Given the description of an element on the screen output the (x, y) to click on. 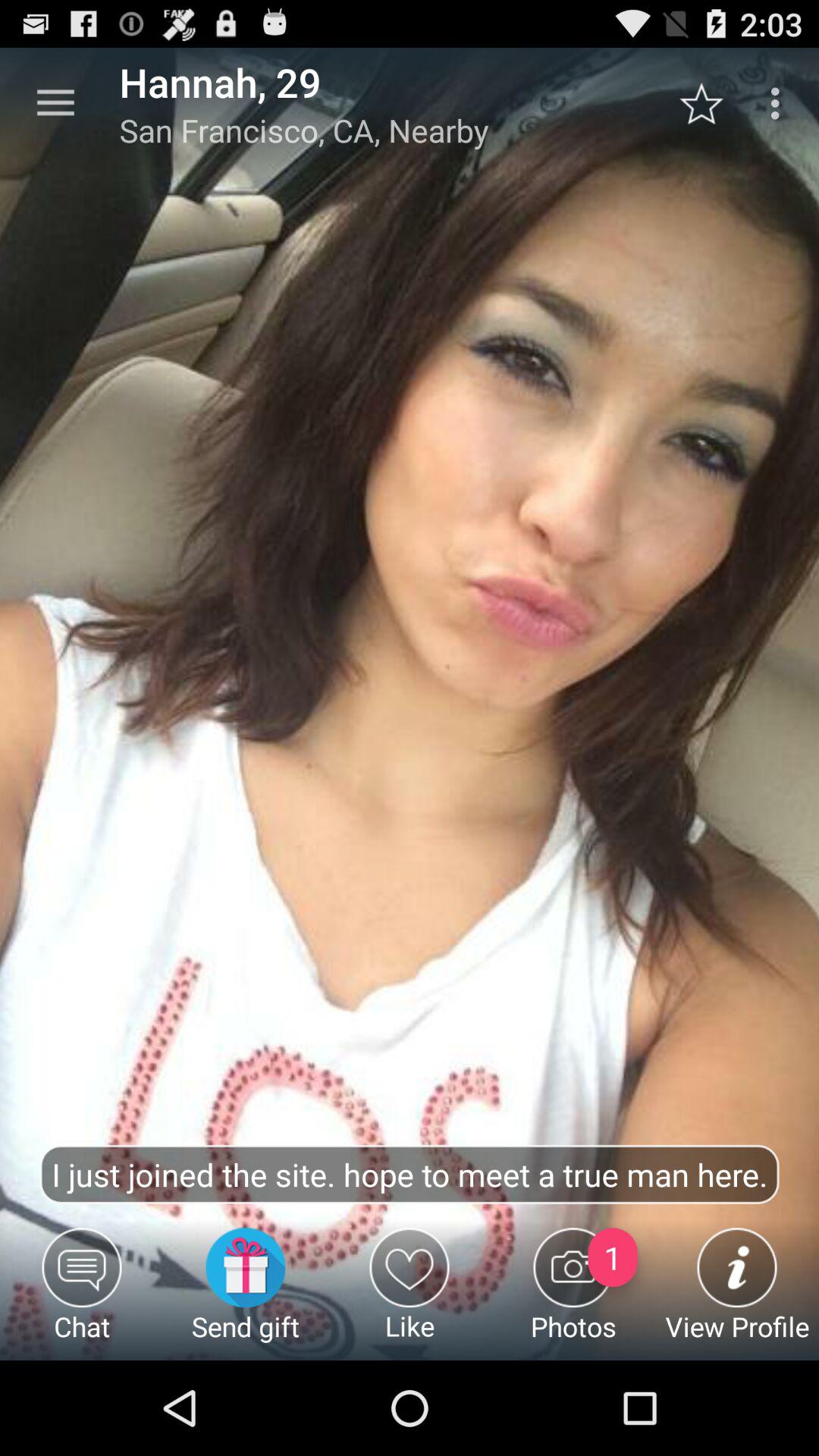
launch the item below i just joined (245, 1293)
